Given the description of an element on the screen output the (x, y) to click on. 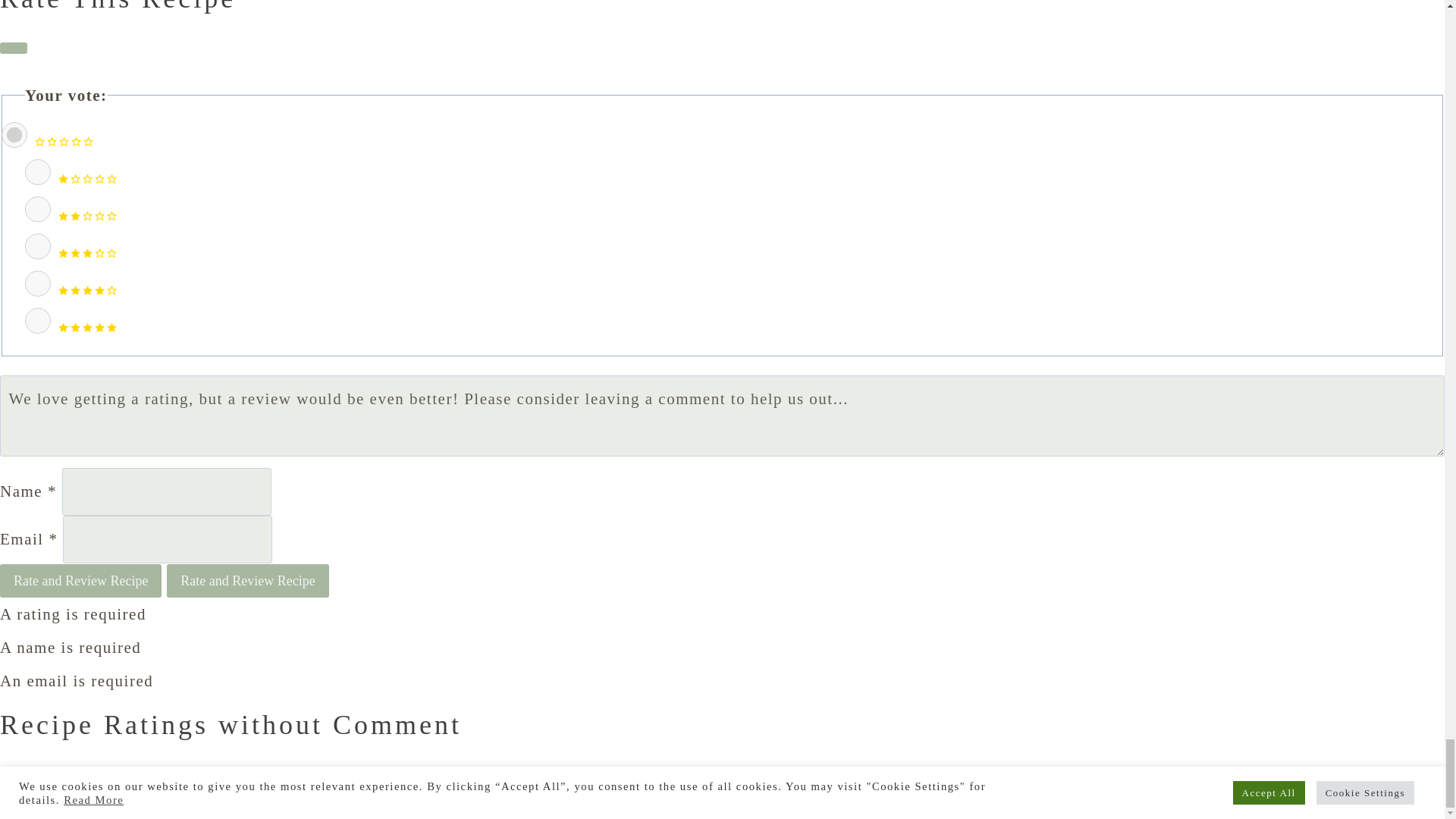
4 (37, 283)
2 (37, 208)
3 (37, 246)
0 (14, 135)
1 (37, 171)
5 (37, 320)
